Given the description of an element on the screen output the (x, y) to click on. 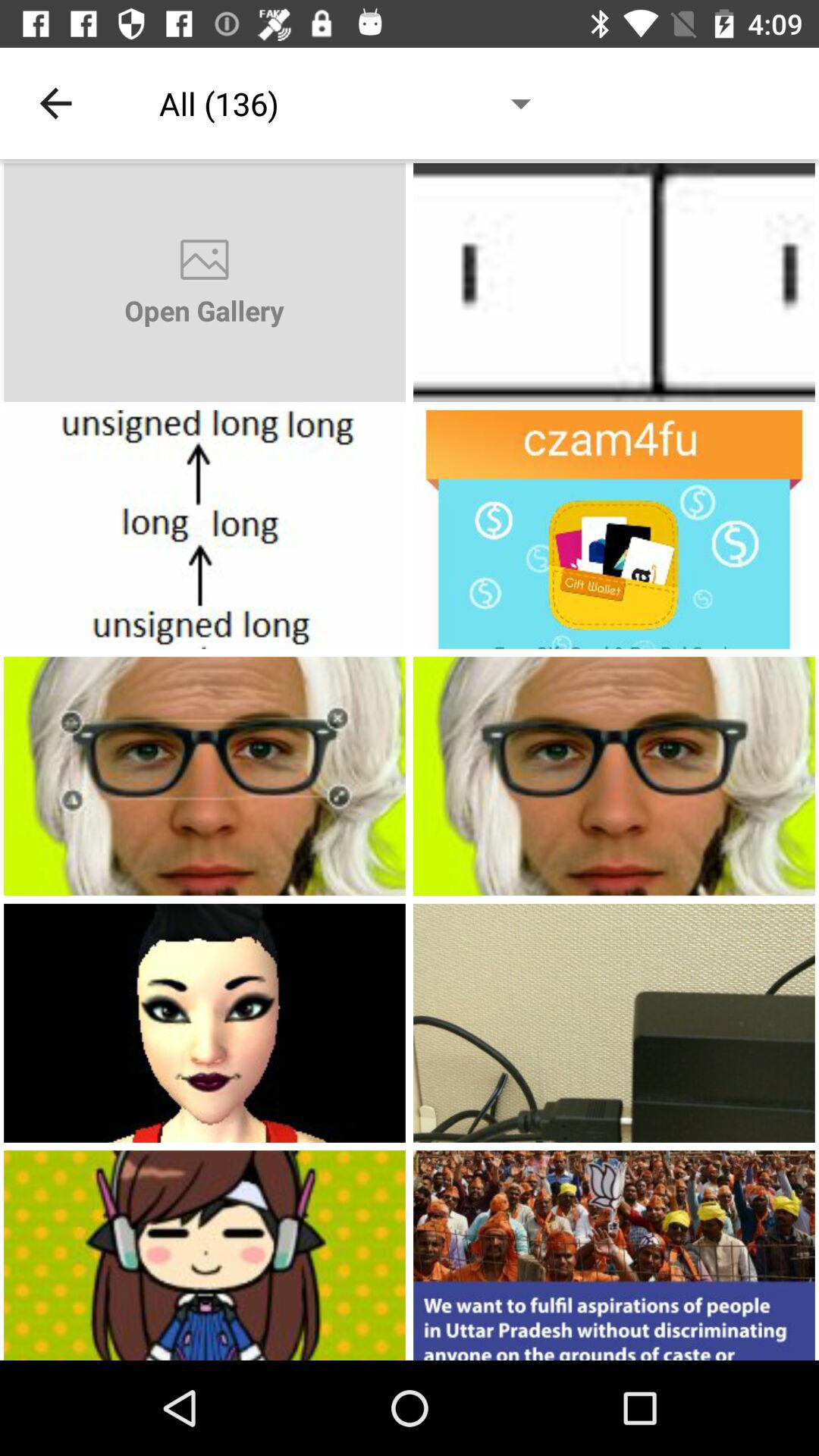
public meeting croud (614, 1255)
